Given the description of an element on the screen output the (x, y) to click on. 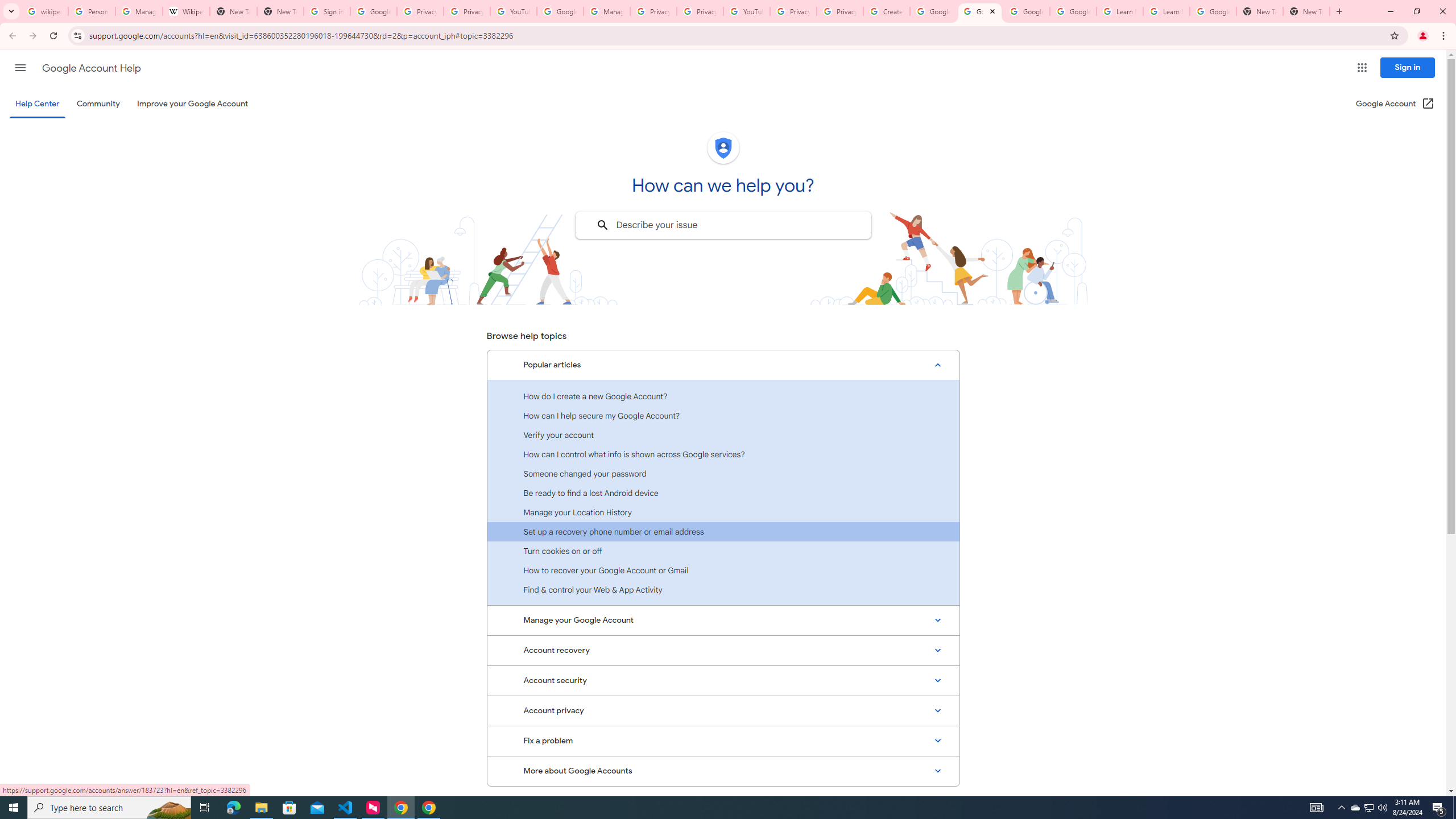
New Tab (1306, 11)
Improve your Google Account (192, 103)
Sign in - Google Accounts (326, 11)
More about Google Accounts (722, 771)
Account recovery (722, 650)
Popular articles, Expanded list with 11 items (722, 365)
Manage your Google Account (722, 620)
How to recover your Google Account or Gmail (722, 570)
